Given the description of an element on the screen output the (x, y) to click on. 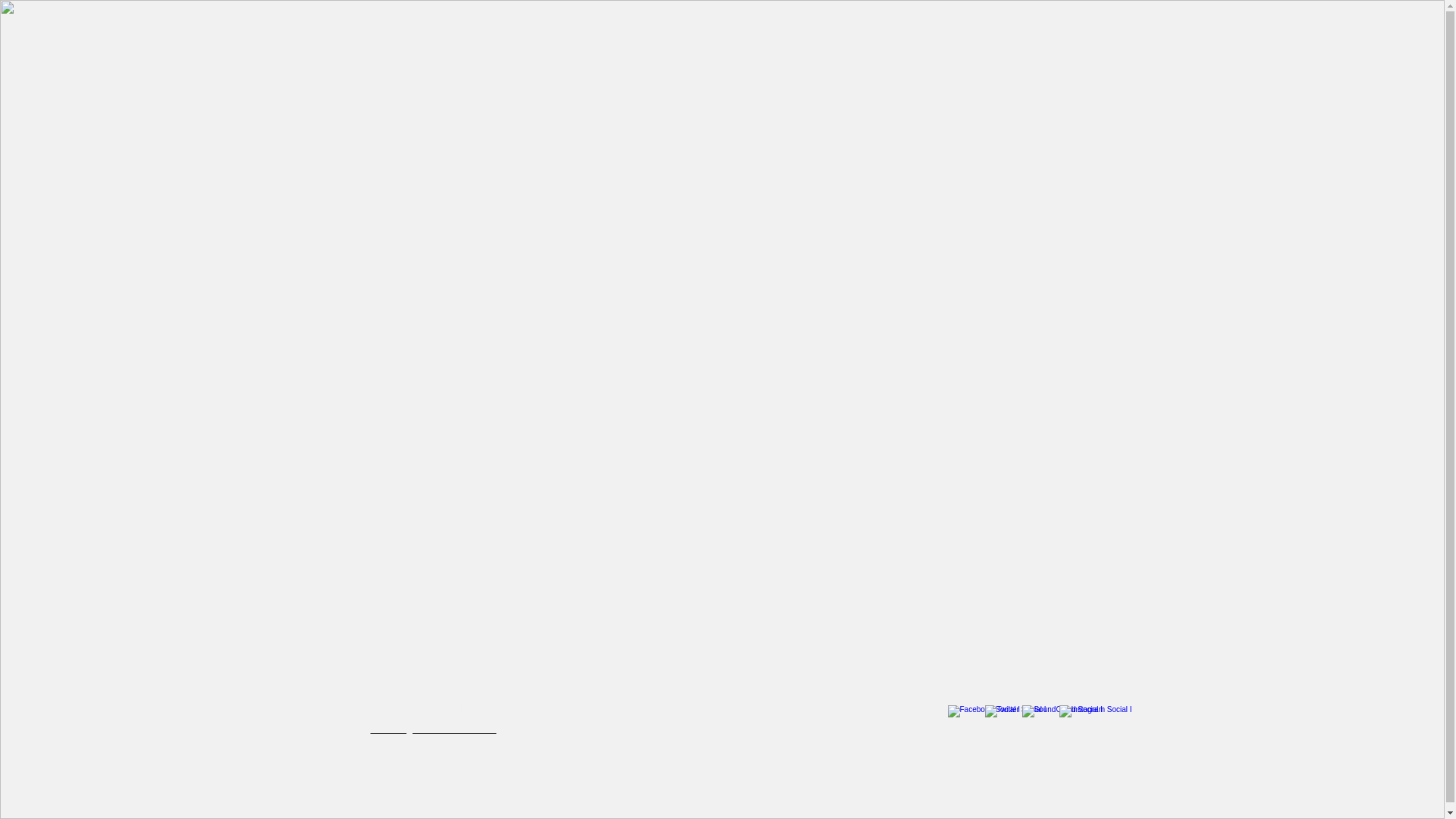
SoundCloud Player Element type: hover (747, 525)
contact@louscarrs.com.au Element type: text (433, 728)
